Given the description of an element on the screen output the (x, y) to click on. 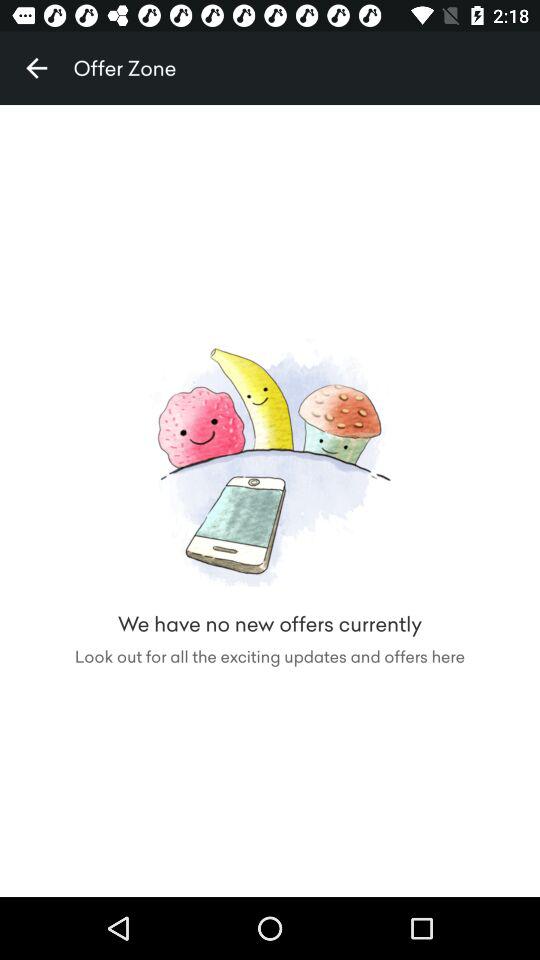
select the icon to the left of offer zone item (36, 67)
